Given the description of an element on the screen output the (x, y) to click on. 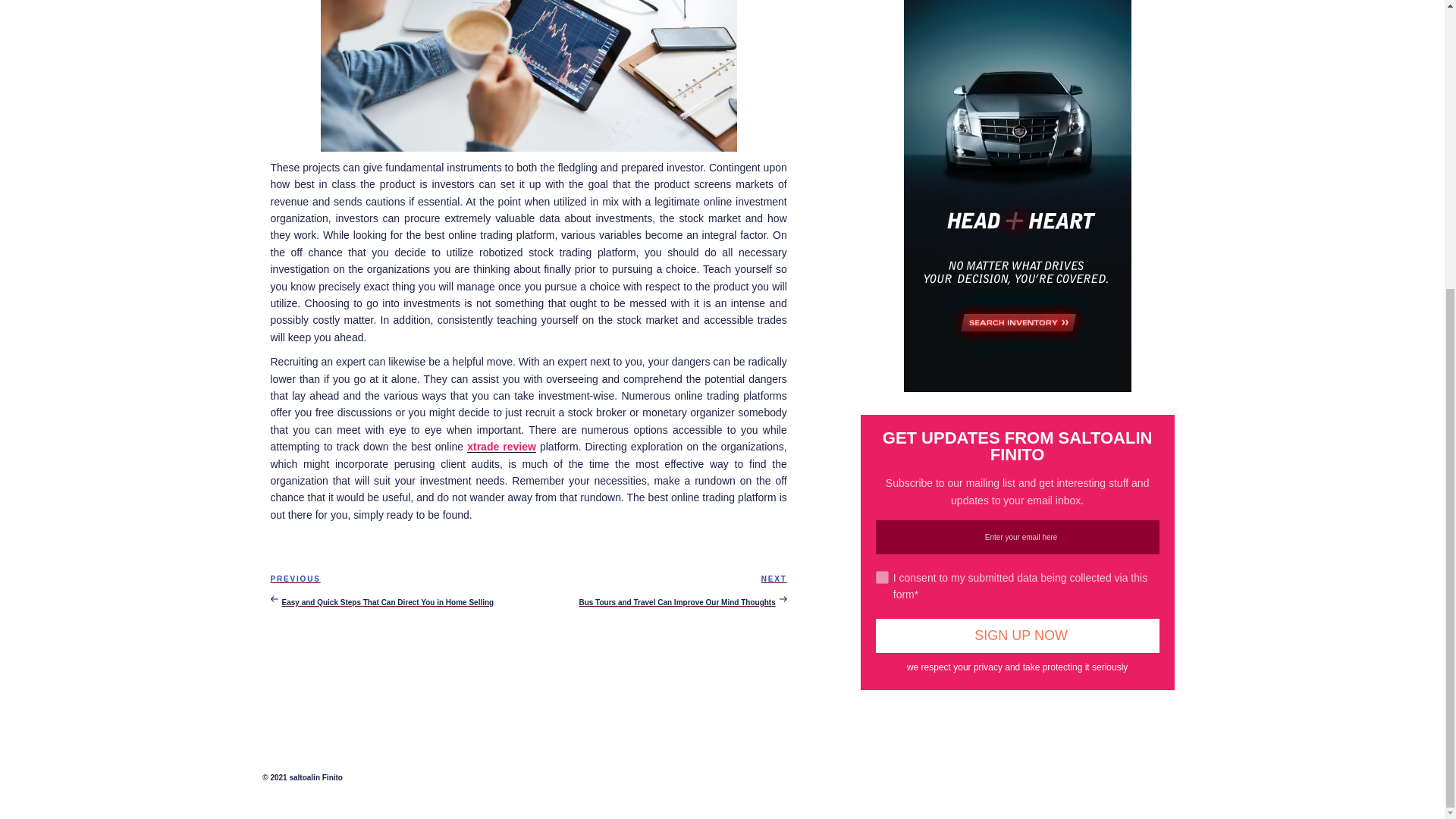
Sign Up Now (1017, 635)
xtrade review (501, 446)
on (882, 576)
Sign Up Now (1017, 635)
